Given the description of an element on the screen output the (x, y) to click on. 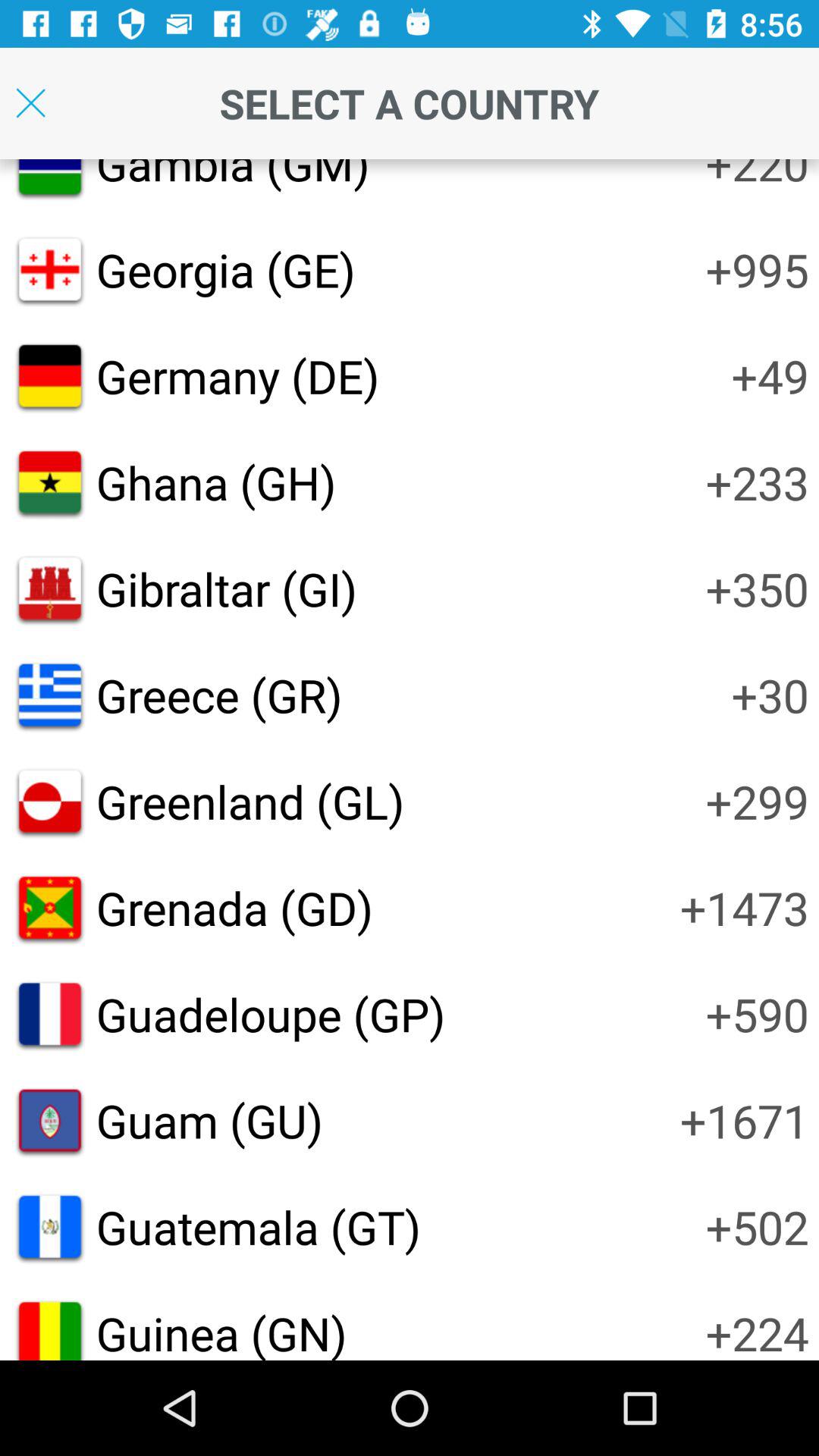
jump until the +220 item (756, 176)
